Given the description of an element on the screen output the (x, y) to click on. 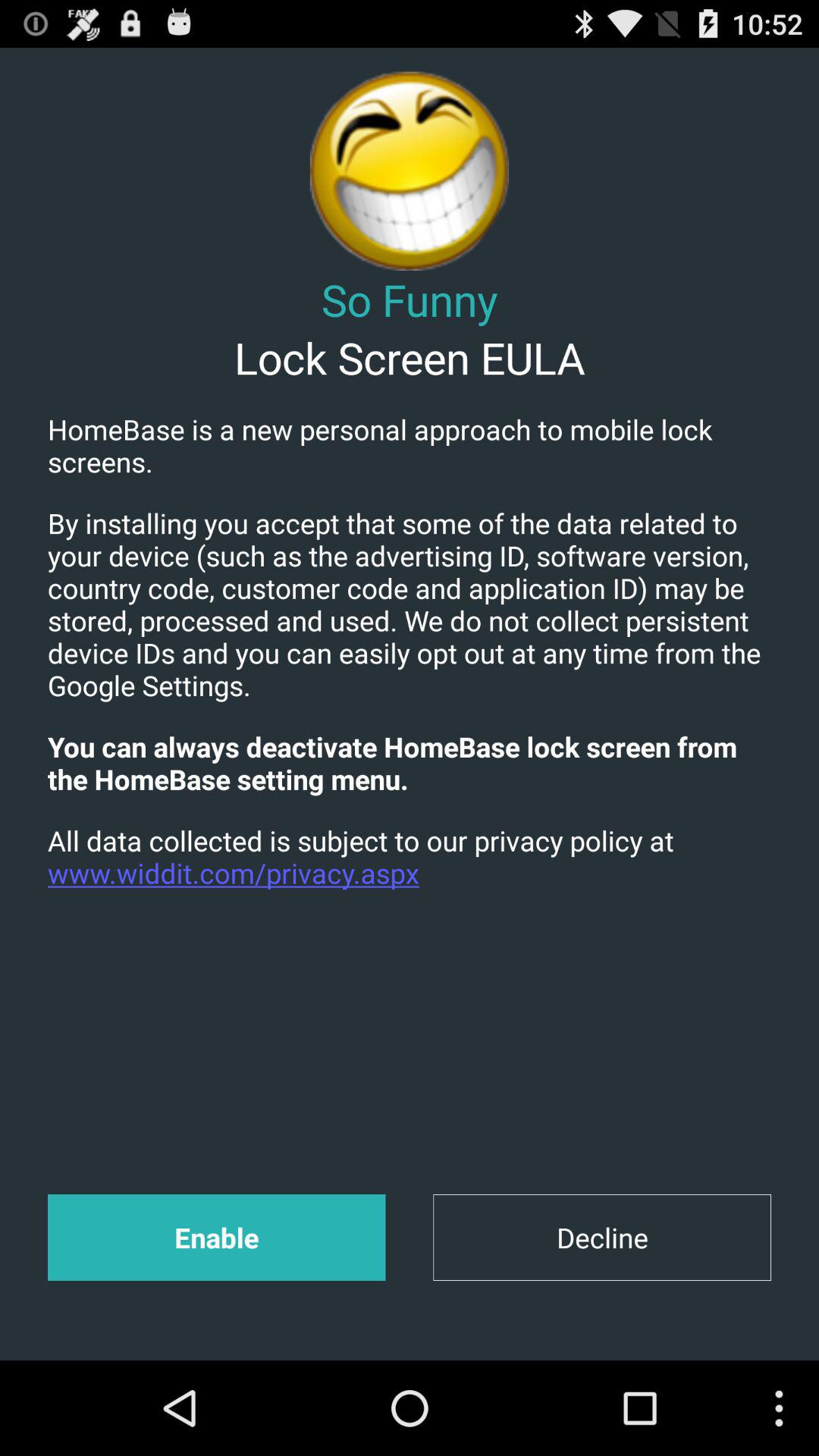
launch decline (601, 1237)
